Given the description of an element on the screen output the (x, y) to click on. 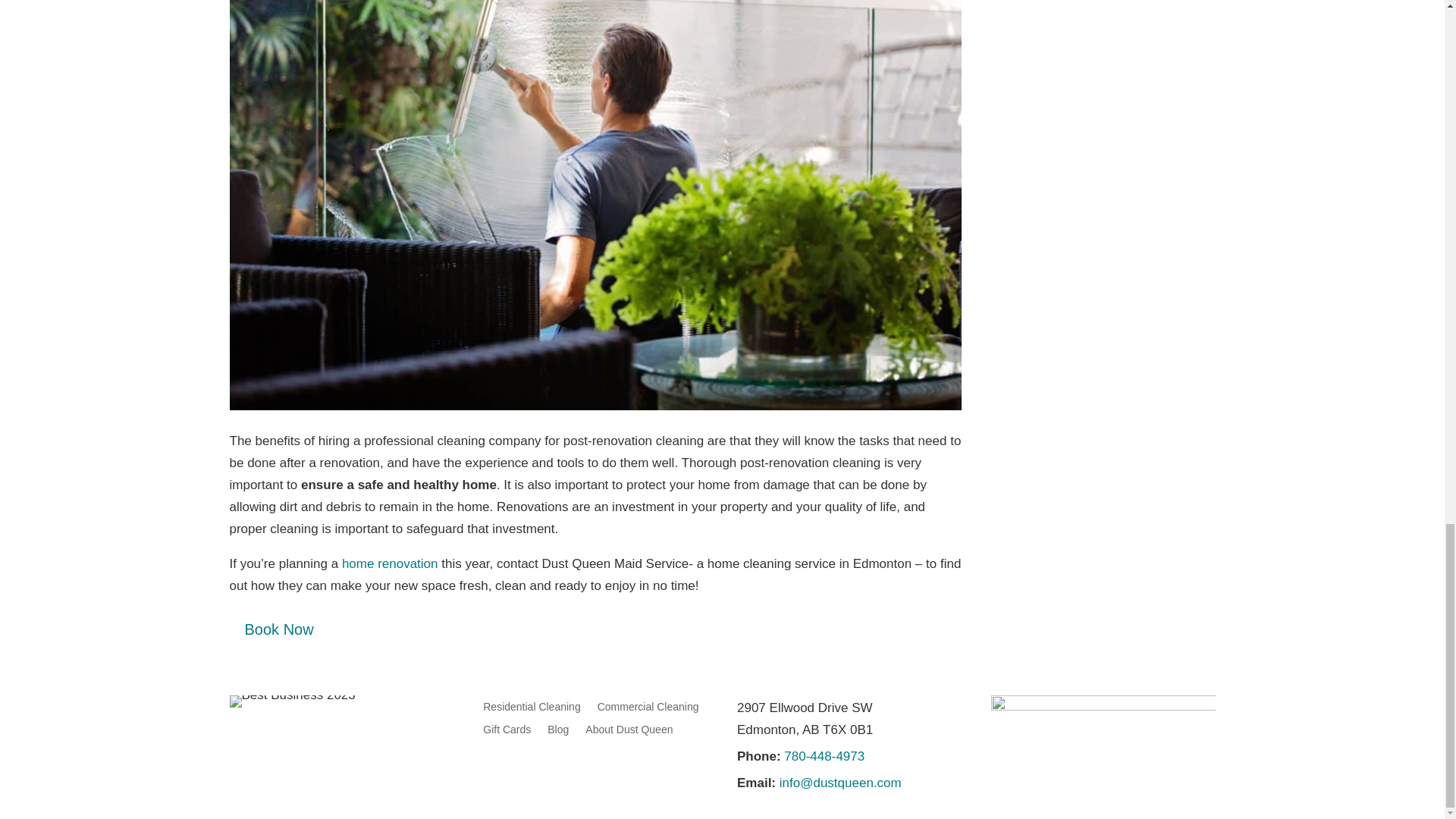
About Dust Queen (628, 732)
Residential Cleaning (531, 709)
home renovation (390, 563)
Best Business 2023 (291, 701)
 780-448-4973 (822, 756)
Book Now (278, 629)
Follow on Facebook (494, 767)
footer logos (1103, 712)
Gift Cards (507, 732)
Blog (558, 732)
